Given the description of an element on the screen output the (x, y) to click on. 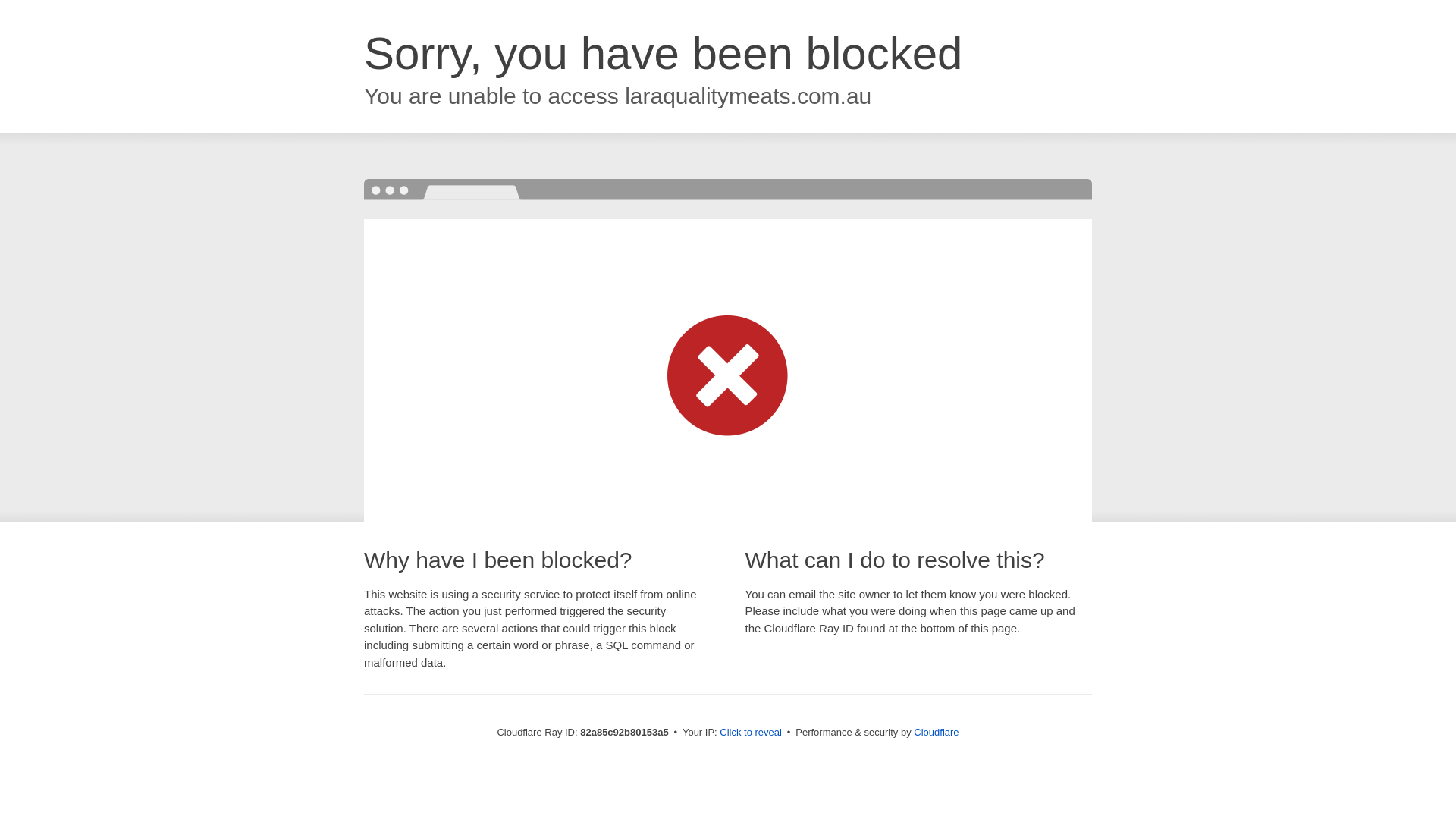
Cloudflare Element type: text (935, 731)
Click to reveal Element type: text (750, 732)
